Given the description of an element on the screen output the (x, y) to click on. 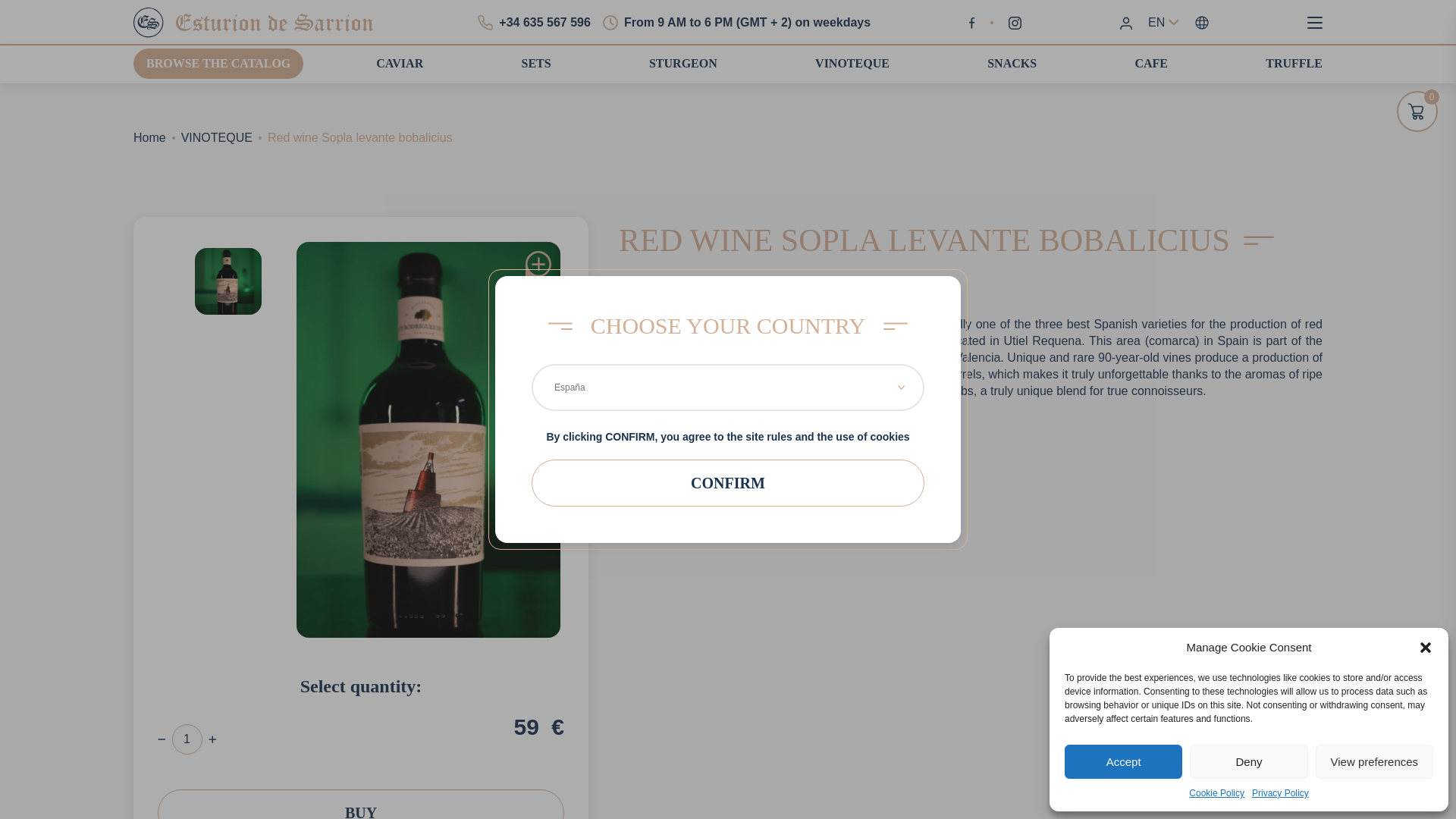
Deny (1248, 761)
CAFE (1150, 62)
BROWSE THE CATALOG (217, 63)
TRUFFLE (1293, 62)
SETS (536, 62)
VINOTEQUE (852, 62)
Privacy Policy (1280, 793)
View preferences (1374, 761)
CAVIAR (399, 62)
Accept (1123, 761)
STURGEON (683, 62)
Cookie Policy (1216, 793)
SNACKS (1011, 62)
1 (186, 738)
